Given the description of an element on the screen output the (x, y) to click on. 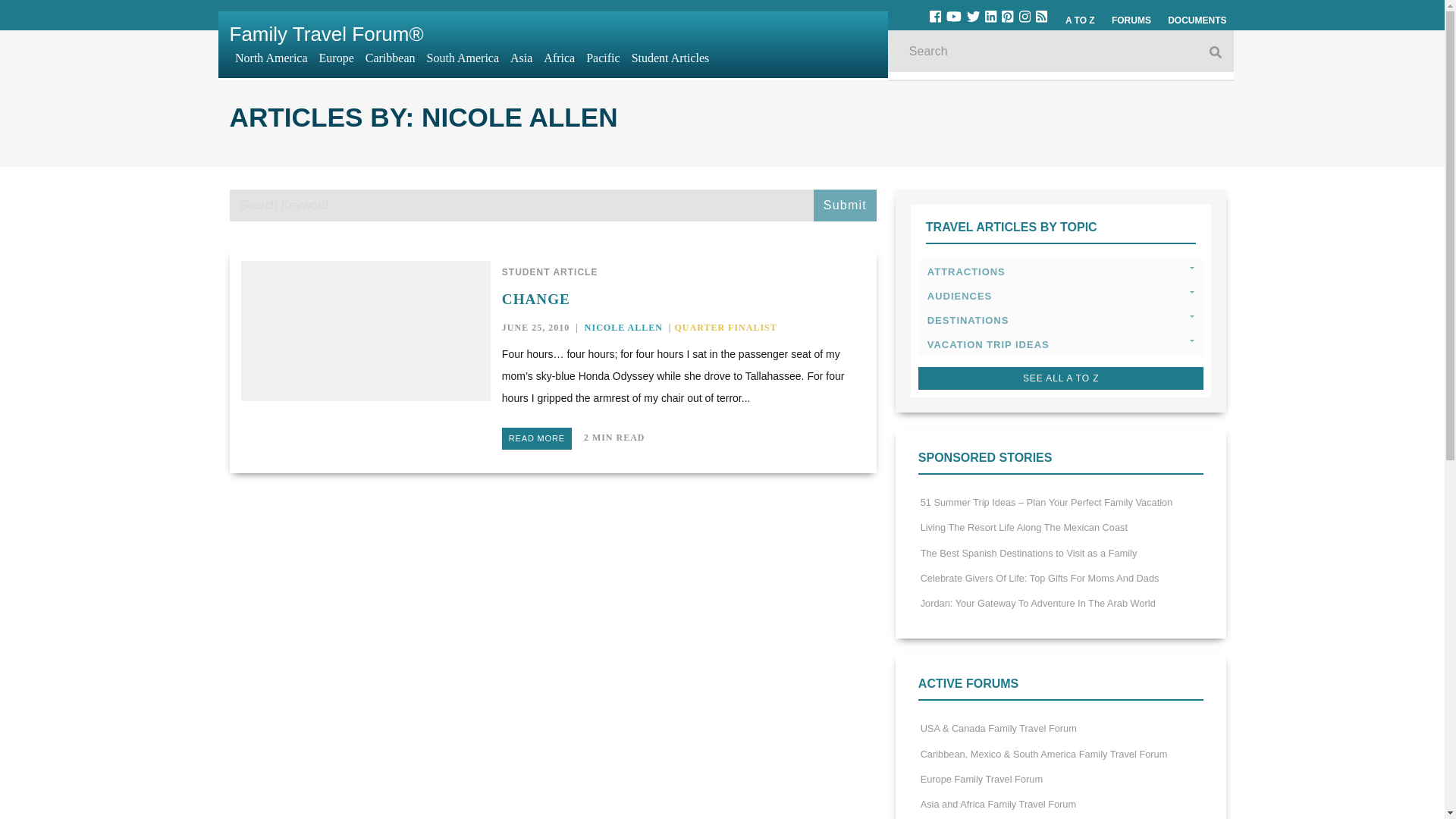
ATTRACTIONS (1061, 271)
DESTINATIONS (1061, 319)
Family Travel Forum (325, 33)
A to Z Links (1079, 20)
Travel Documents (1196, 20)
AUDIENCES (1061, 295)
Submit (844, 205)
NICOLE ALLEN (623, 327)
Submit (844, 205)
Forums (1131, 20)
